Given the description of an element on the screen output the (x, y) to click on. 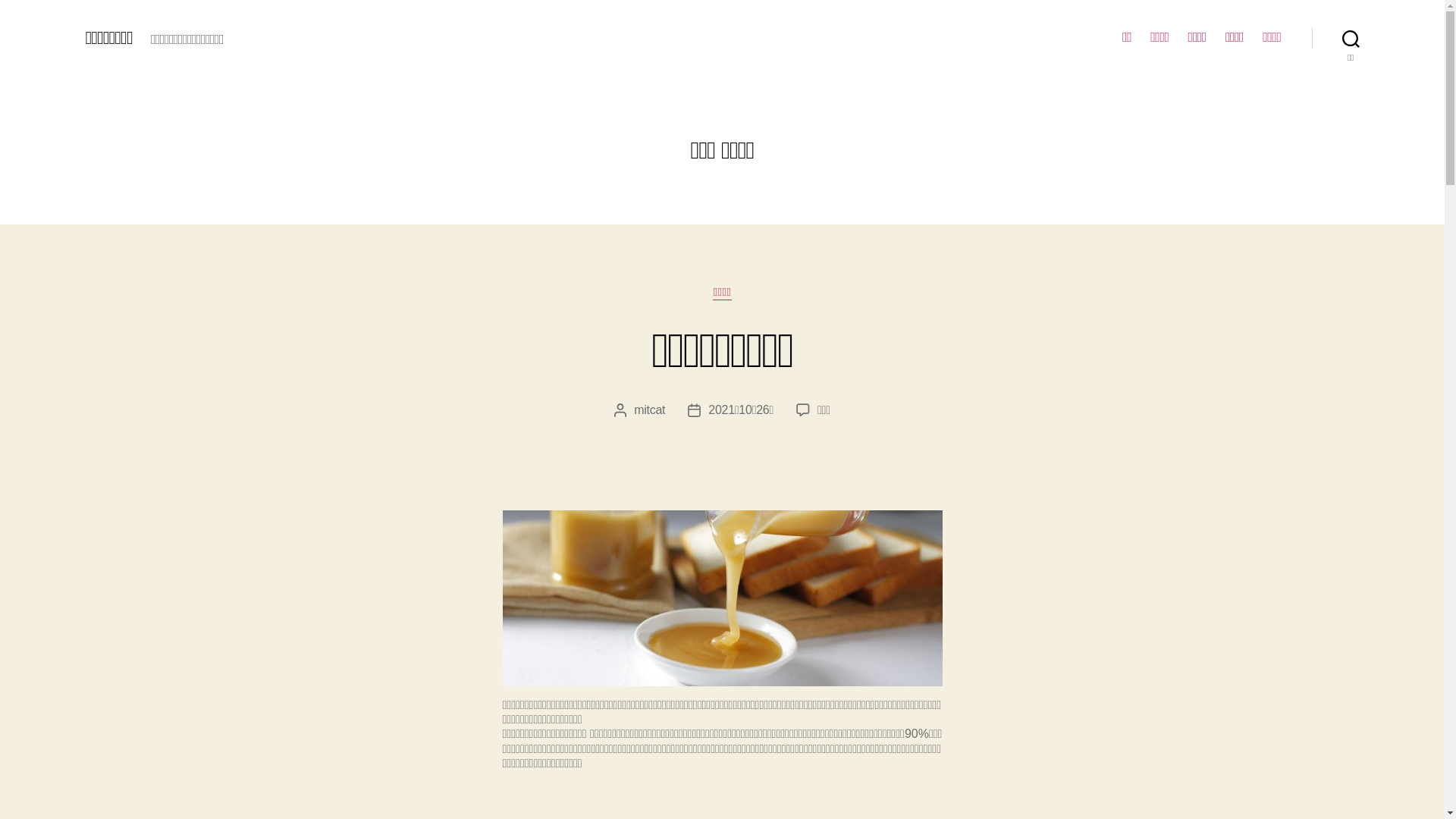
mitcat Element type: text (649, 409)
